Given the description of an element on the screen output the (x, y) to click on. 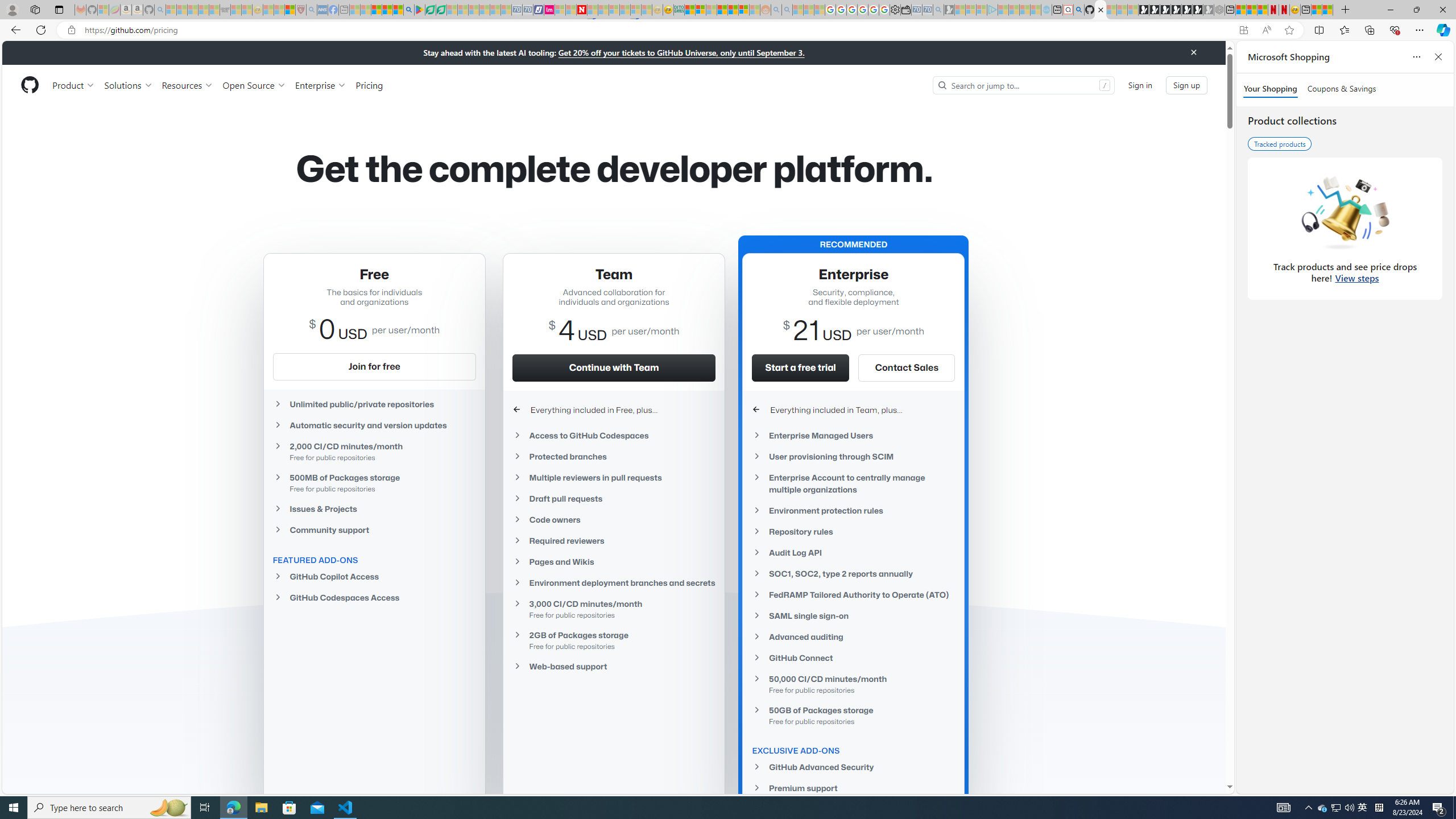
Premium support (853, 788)
Environment protection rules (853, 510)
Automatic security and version updates (374, 425)
Community support (374, 529)
Pricing (368, 84)
App available. Install GitHub (1243, 29)
Unlimited public/private repositories (374, 404)
